Given the description of an element on the screen output the (x, y) to click on. 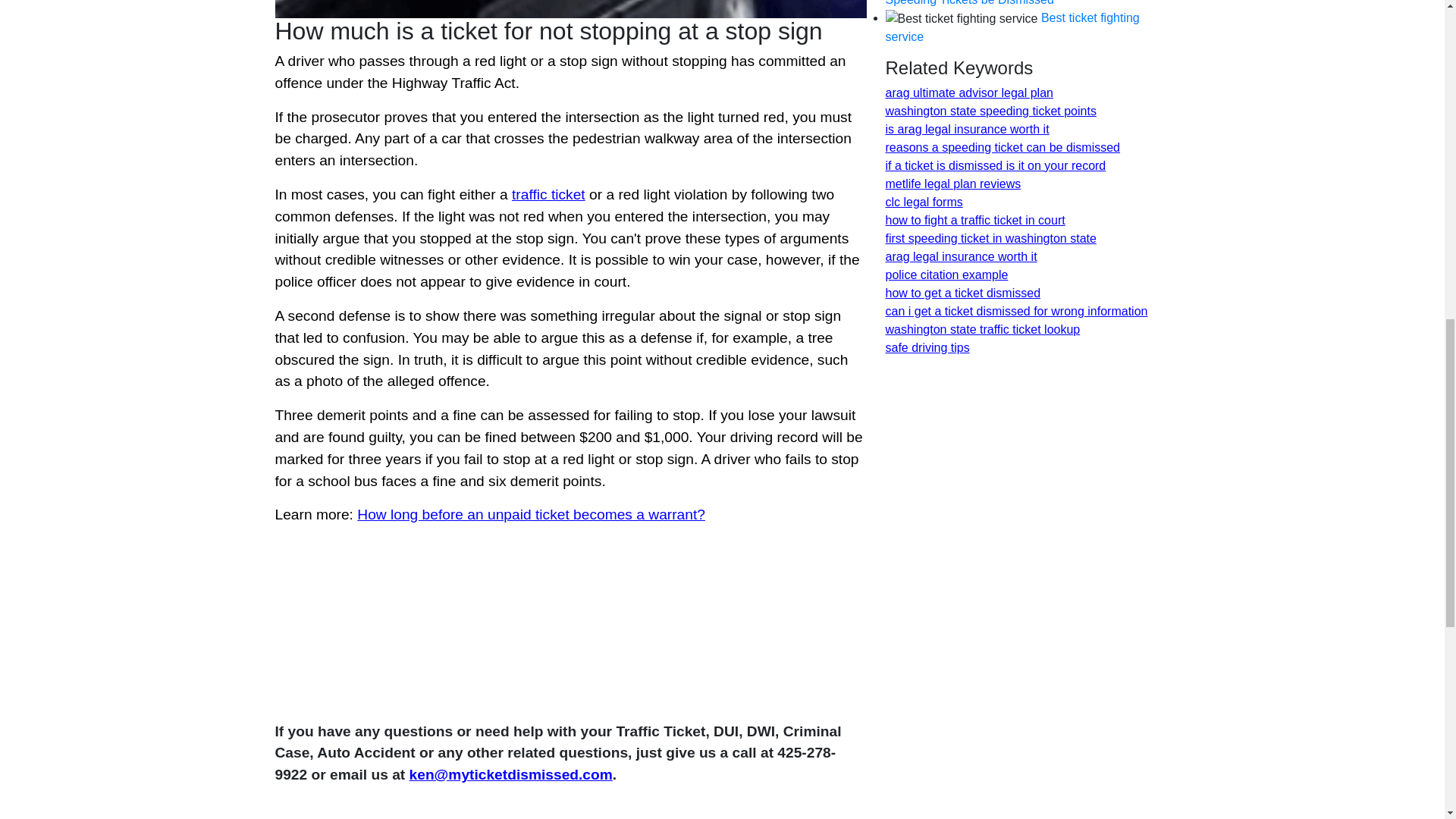
if a ticket is dismissed is it on your record (995, 164)
How long before an unpaid ticket becomes a warrant? (530, 514)
clc legal forms (923, 201)
traffic ticket (548, 194)
Email Attorney Ken Tsiprin (510, 774)
traffic ticket (548, 194)
How long before an unpaid ticket becomes a warrant (530, 514)
washington state speeding ticket points (990, 110)
metlife legal plan reviews (953, 183)
how to fight a traffic ticket in court (975, 219)
Can Speeding Tickets be Dismissed (1001, 2)
arag ultimate advisor legal plan (968, 92)
Best ticket fighting service (1012, 27)
is arag legal insurance worth it (967, 128)
reasons a speeding ticket can be dismissed (1003, 146)
